Given the description of an element on the screen output the (x, y) to click on. 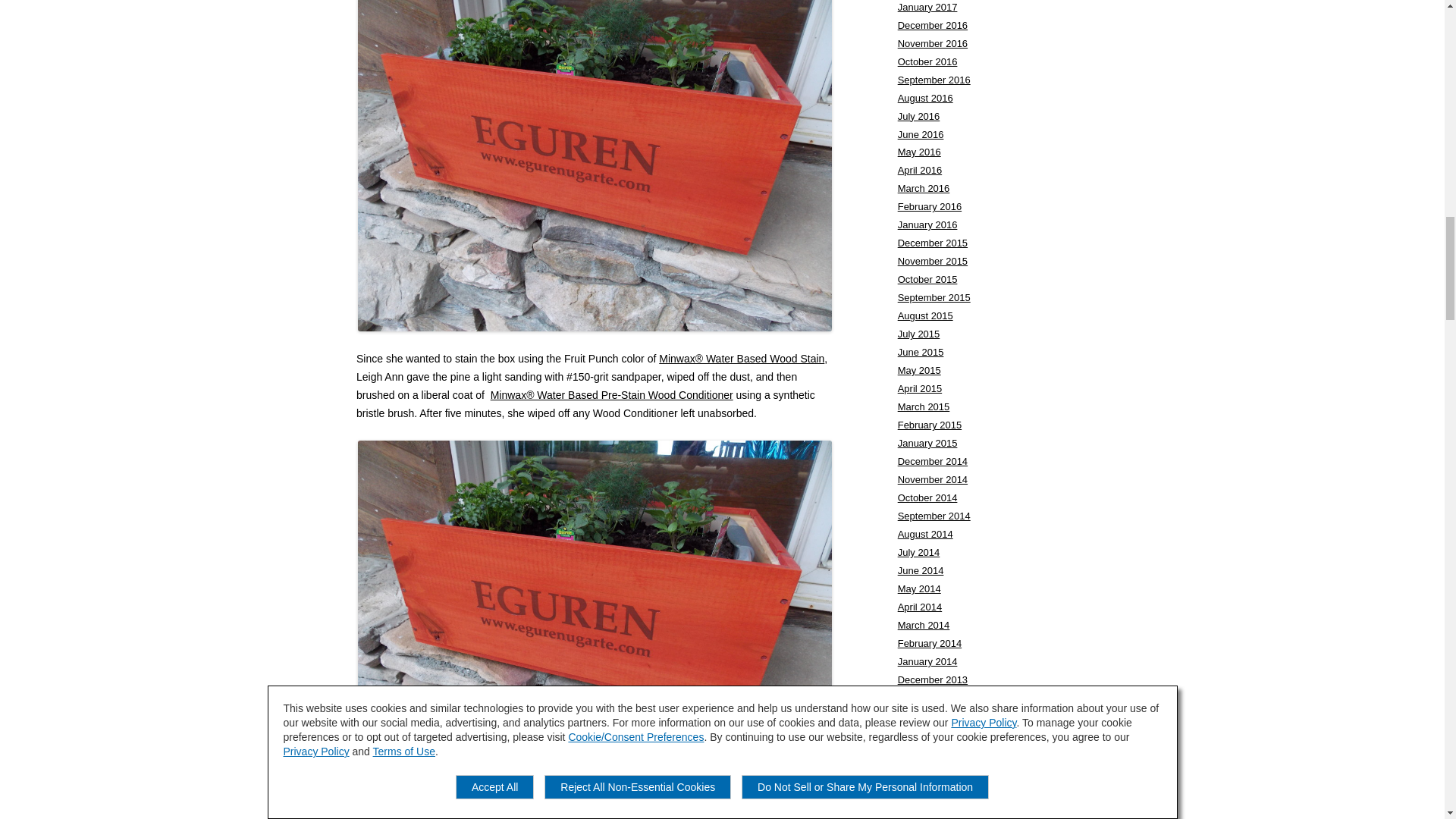
Minwax Water Based Pre-Stain Wood Conditioner (611, 395)
Minwax Water Based Wood Stain (741, 358)
